Given the description of an element on the screen output the (x, y) to click on. 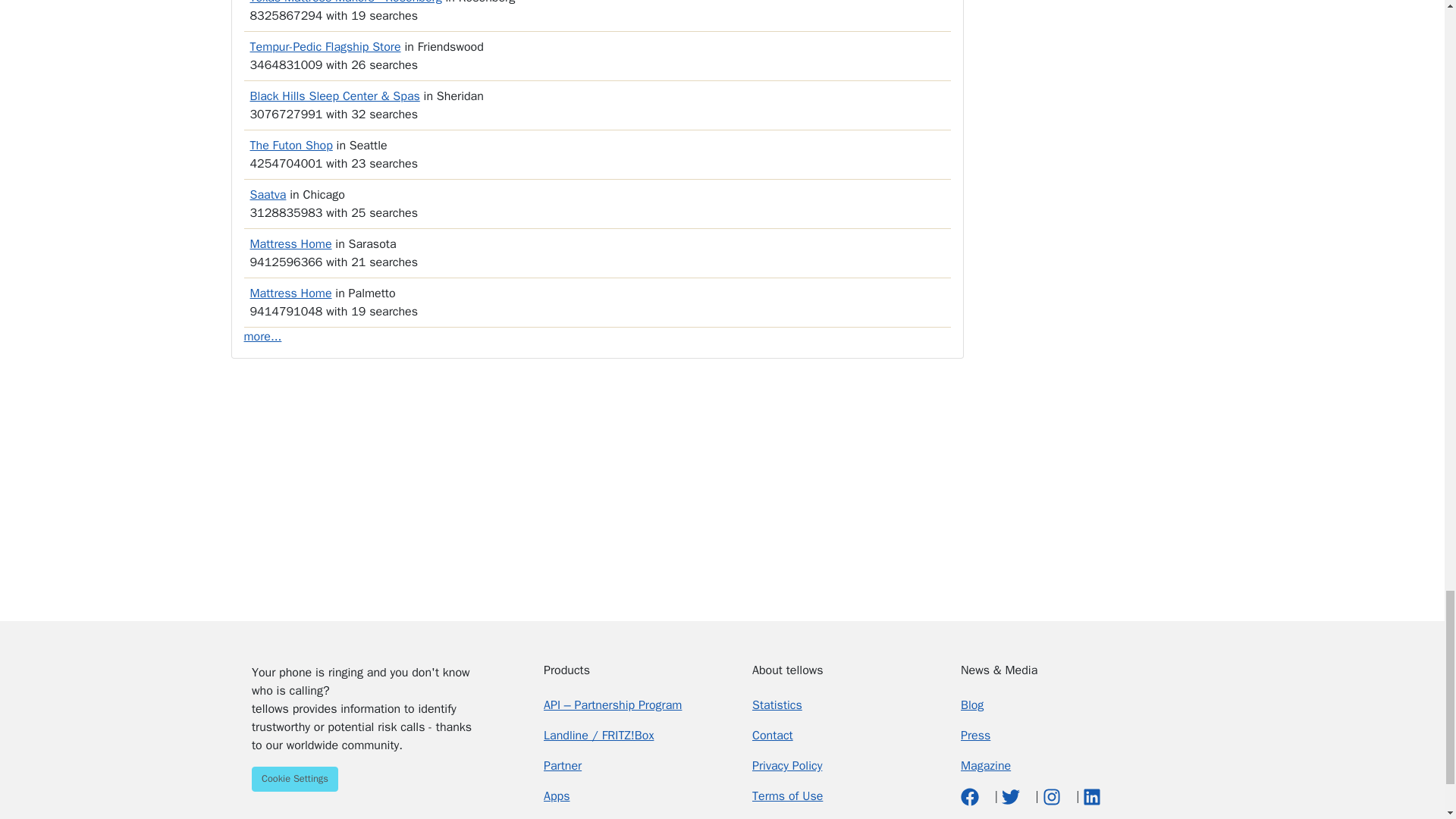
LinkedIn (1091, 795)
Magazin (985, 765)
Blog (972, 704)
Facebook (971, 795)
Presse (975, 735)
Instagram (1053, 795)
twitter (1012, 795)
